Given the description of an element on the screen output the (x, y) to click on. 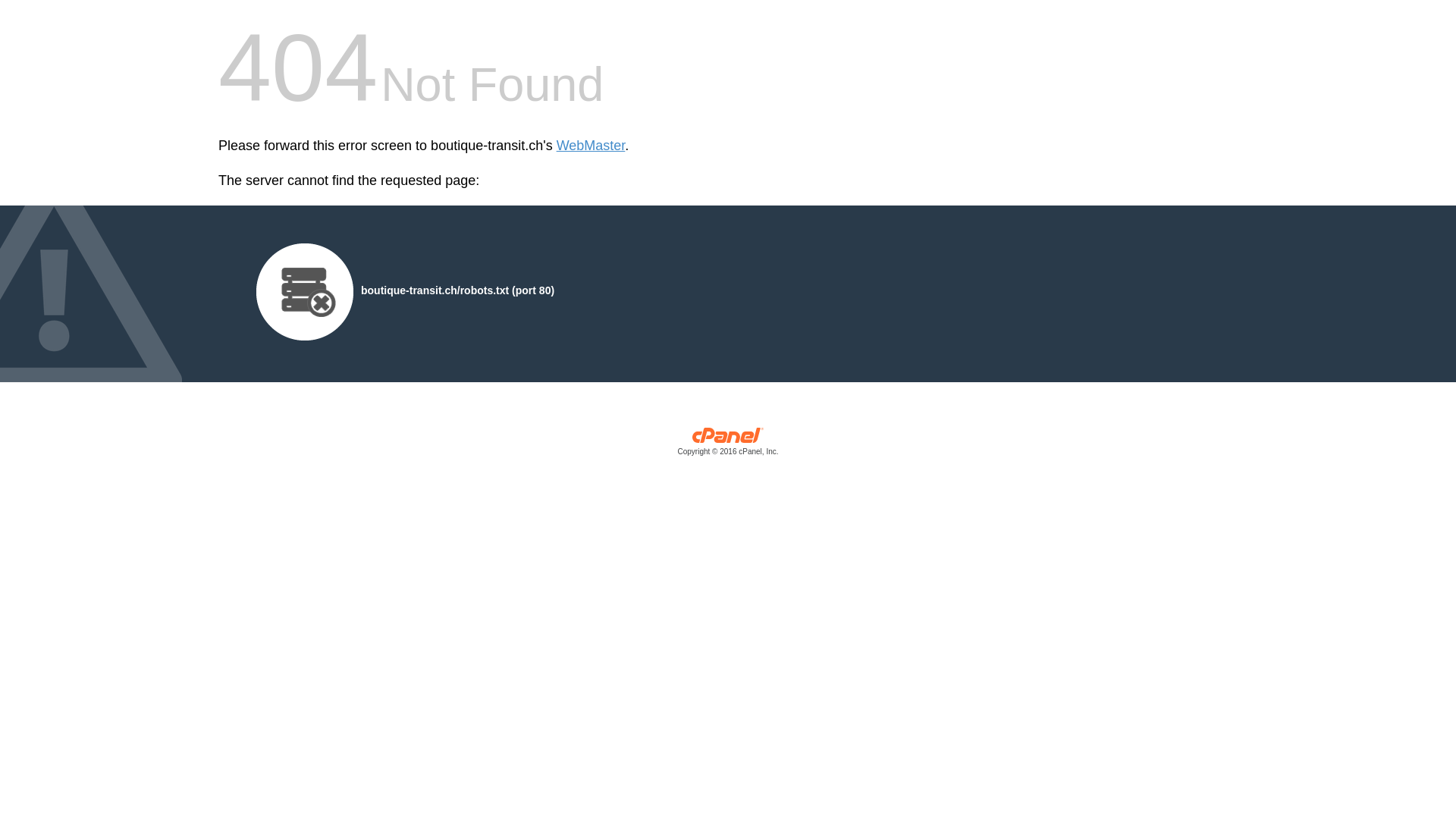
WebMaster Element type: text (590, 145)
